Given the description of an element on the screen output the (x, y) to click on. 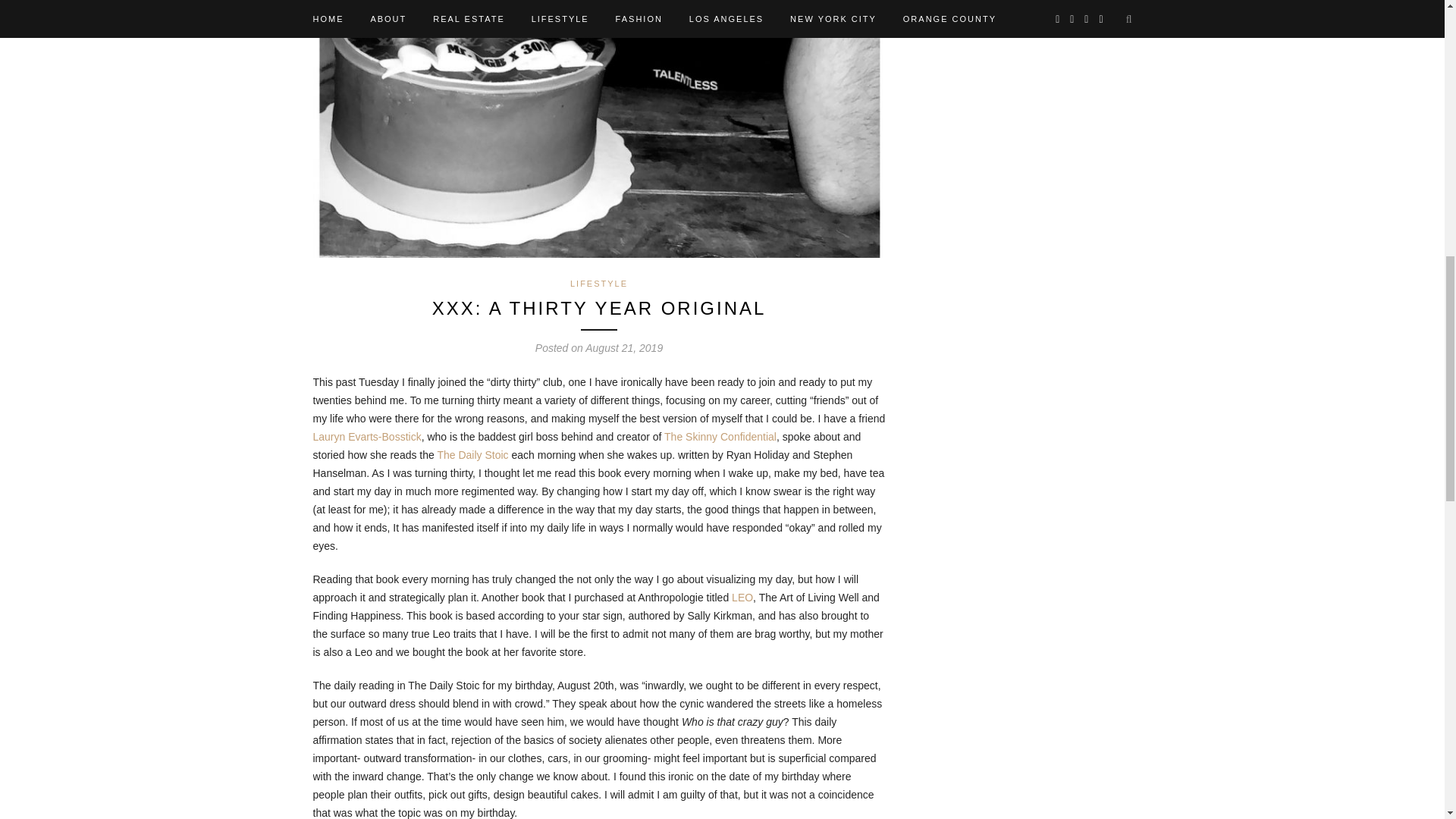
The Daily Stoic (472, 454)
Lauryn Evarts-Bosstick (366, 436)
LEO (742, 597)
LIFESTYLE (598, 283)
The Skinny Confidential (719, 436)
XXX: A THIRTY YEAR ORIGINAL (599, 308)
